Given the description of an element on the screen output the (x, y) to click on. 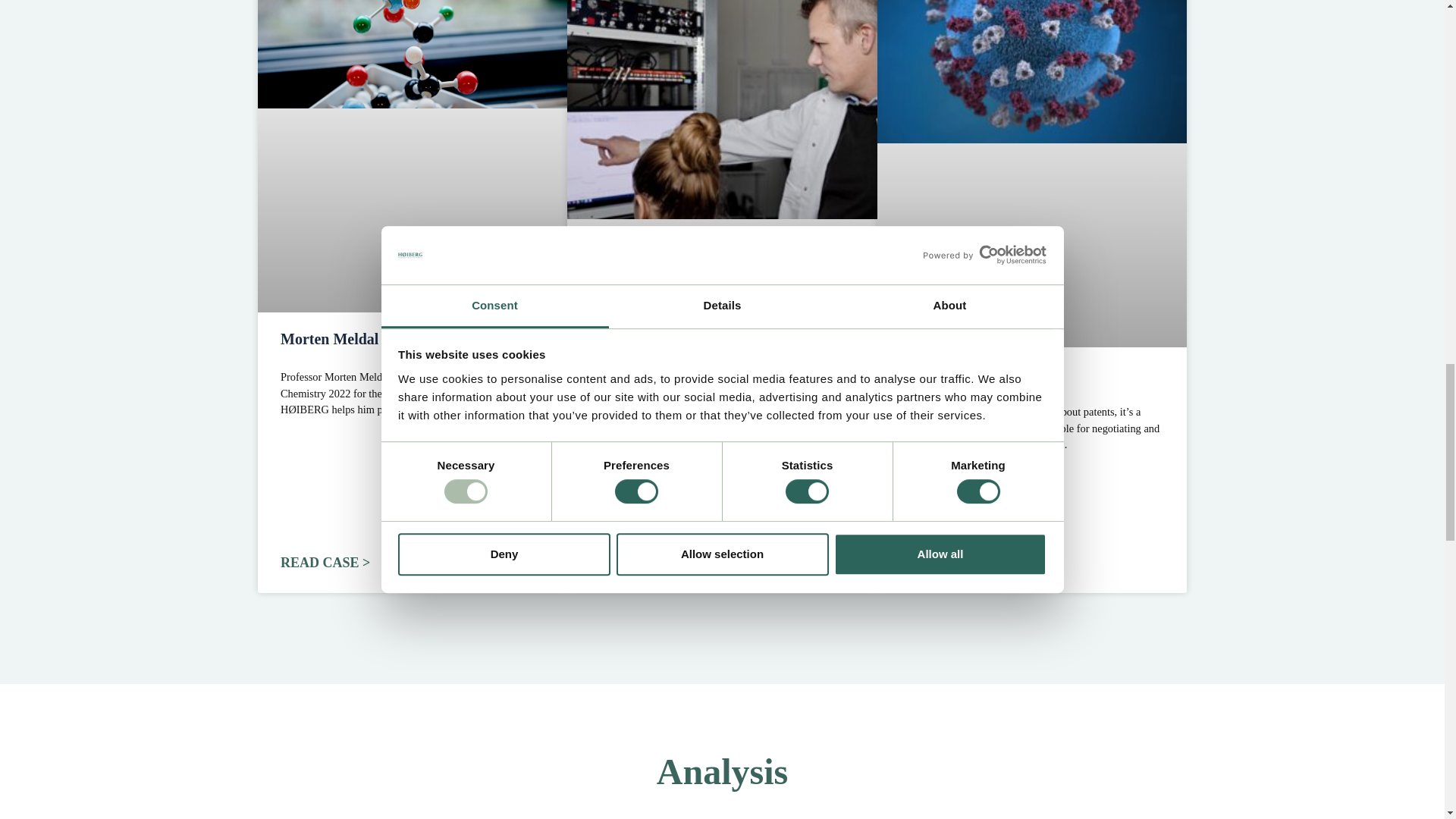
Morten Meldal (412, 53)
